Given the description of an element on the screen output the (x, y) to click on. 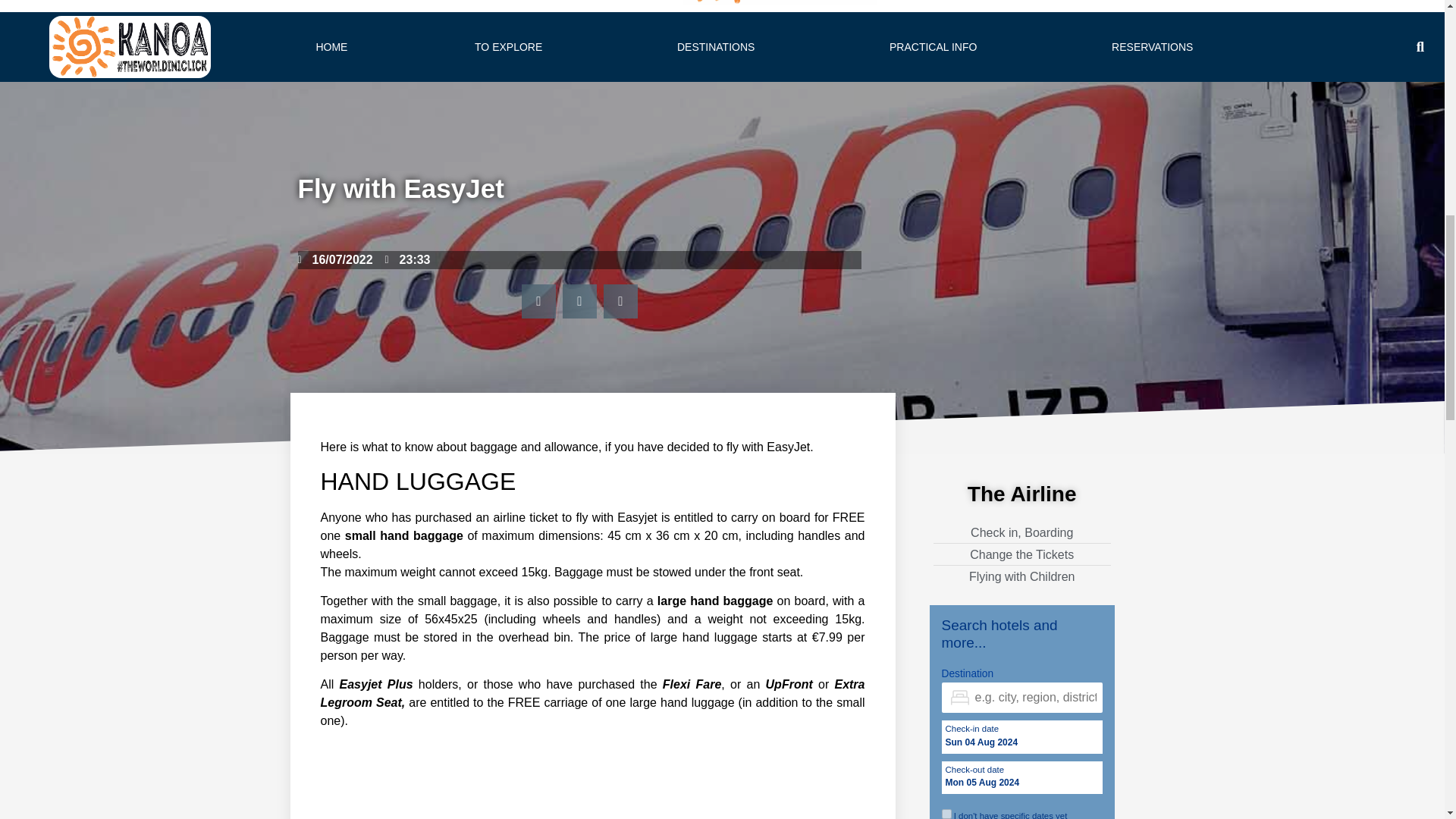
on (947, 814)
PRACTICAL INFO (936, 46)
e.g. city, region, district or specific hotel (1022, 697)
TO EXPLORE (511, 46)
DESTINATIONS (718, 46)
HOME (331, 46)
